Given the description of an element on the screen output the (x, y) to click on. 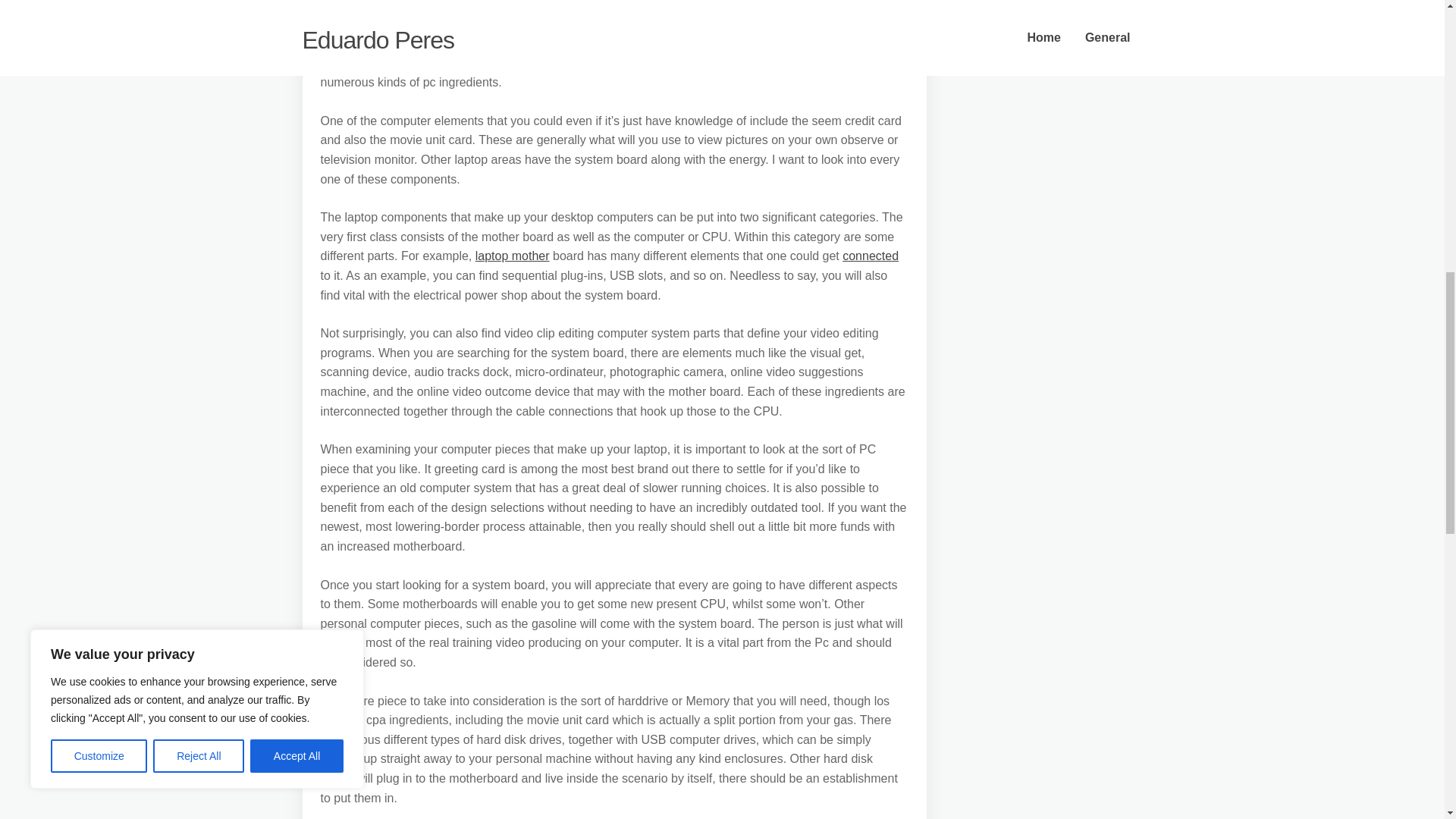
connected (870, 255)
laptop mother (513, 255)
